Given the description of an element on the screen output the (x, y) to click on. 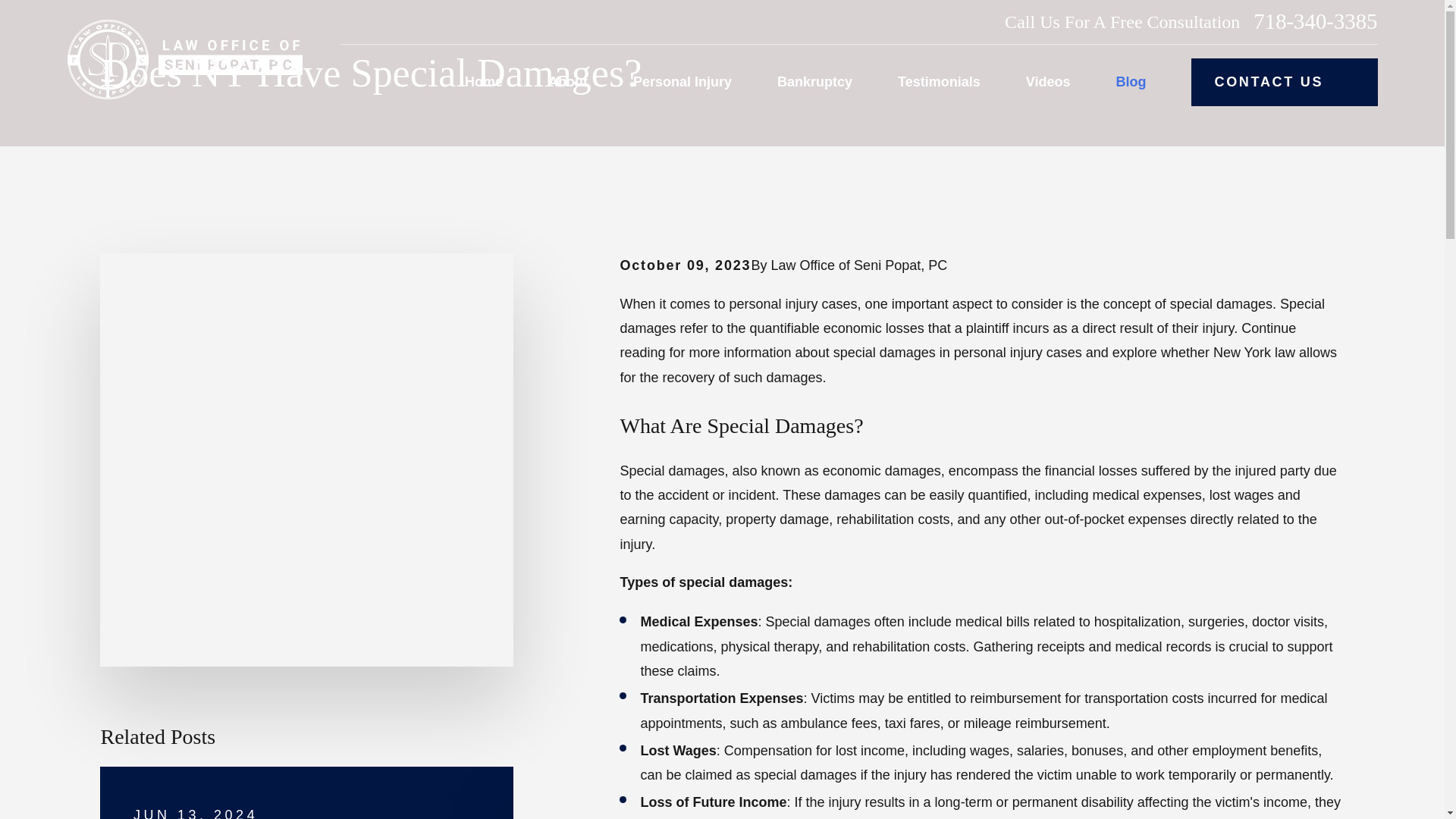
Home (183, 59)
Personal Injury (682, 82)
718-340-3385 (1315, 21)
Bankruptcy (814, 82)
